Given the description of an element on the screen output the (x, y) to click on. 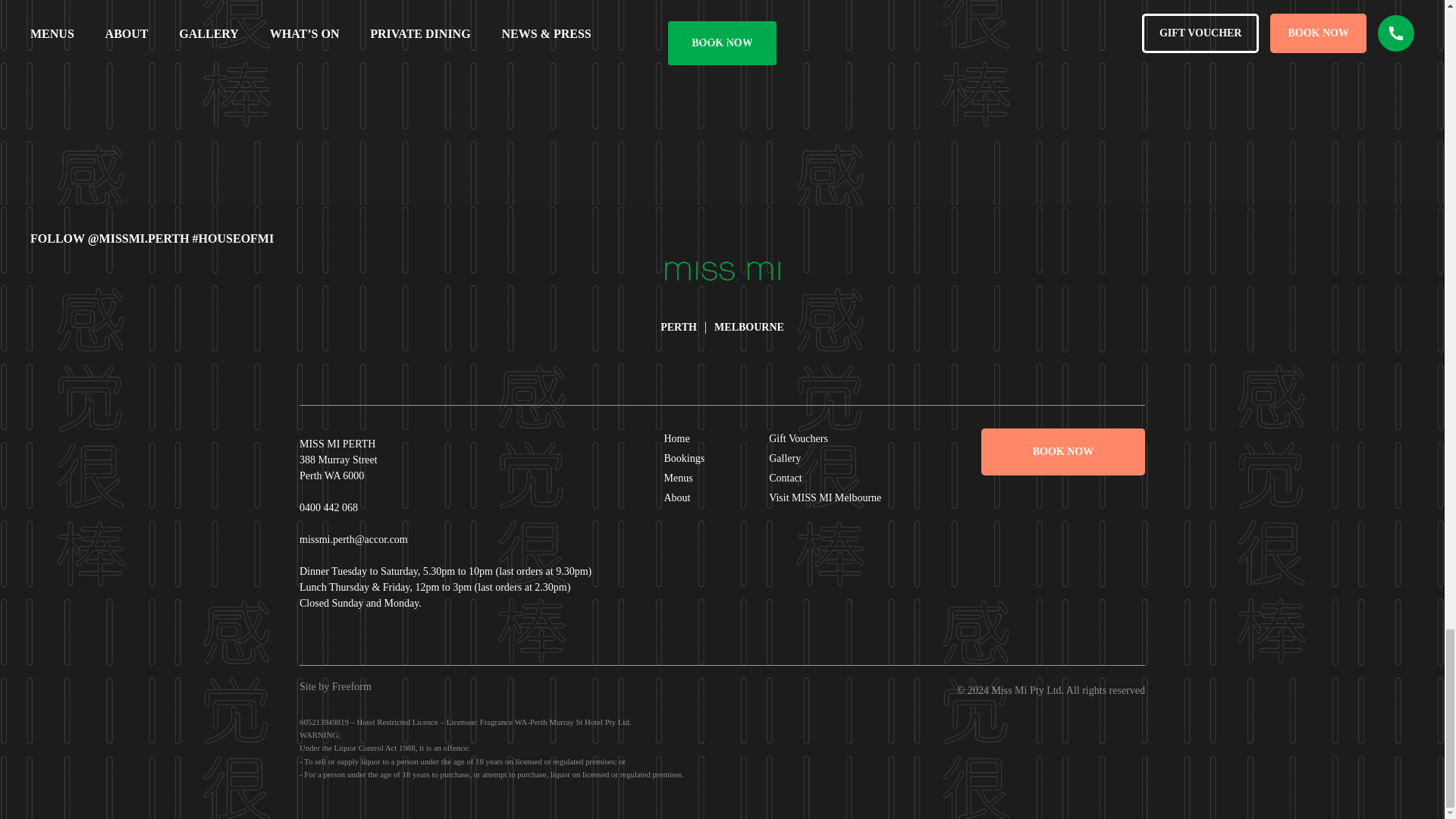
MELBOURNE (749, 326)
BOOK NOW (722, 43)
PERTH (679, 326)
